Given the description of an element on the screen output the (x, y) to click on. 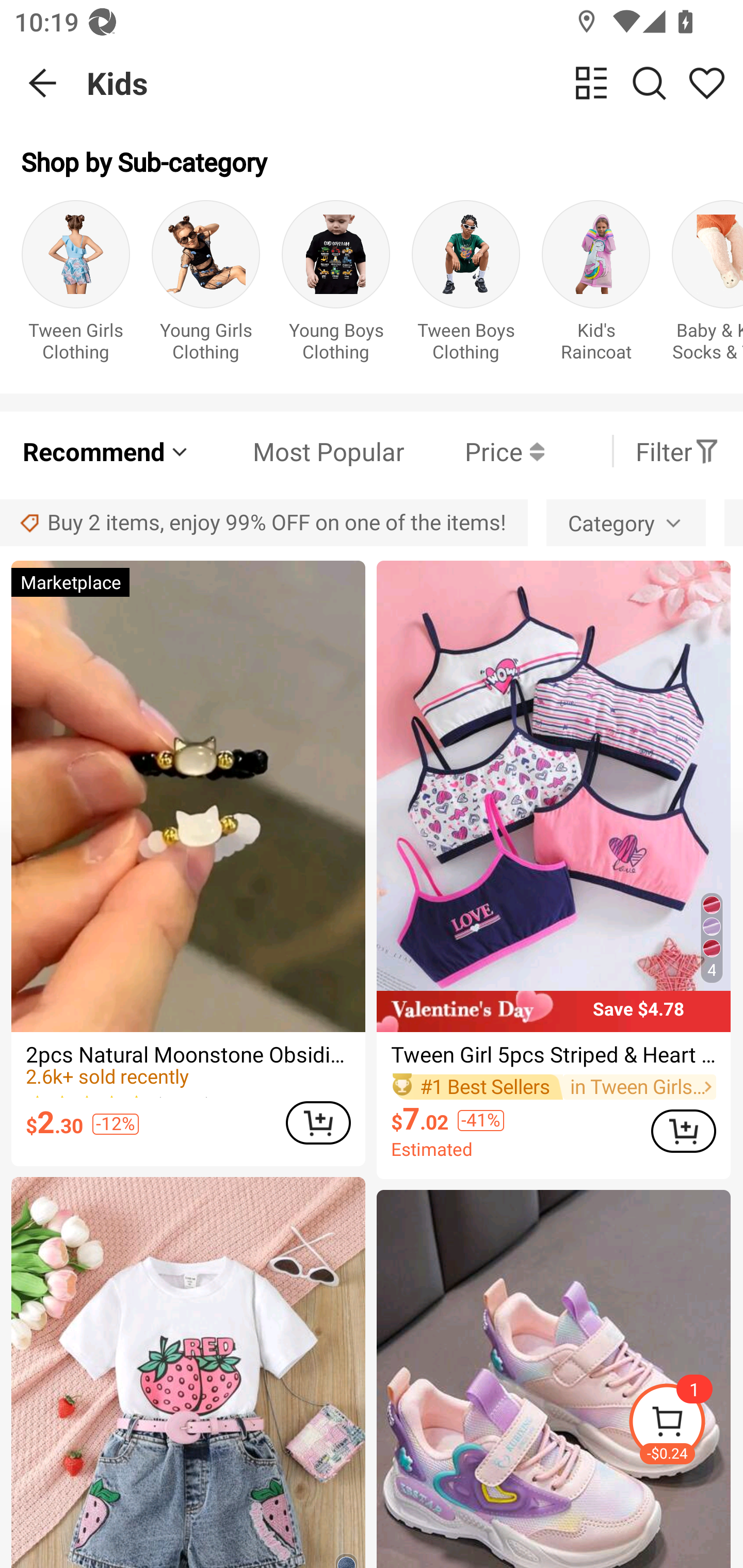
Kids change view Search Share (414, 82)
change view (591, 82)
Search (648, 82)
Share (706, 82)
Tween Girls Clothing (75, 285)
Young Girls Clothing (205, 285)
Young Boys Clothing (335, 285)
Tween Boys Clothing (465, 285)
Kid's Raincoat (595, 285)
Baby & Kids' Socks & Tights (707, 285)
Recommend (106, 450)
Most Popular (297, 450)
Price (474, 450)
Filter (677, 450)
Buy 2 items, enjoy 99% OFF on one of the items! (263, 521)
Category (625, 521)
#1 Best Sellers in Tween Girls Underwear (553, 1086)
ADD TO CART (318, 1122)
ADD TO CART (683, 1131)
Kids' Simple, Comfortable, Breathable Sports Shoes (553, 1379)
-$0.24 (685, 1424)
